Given the description of an element on the screen output the (x, y) to click on. 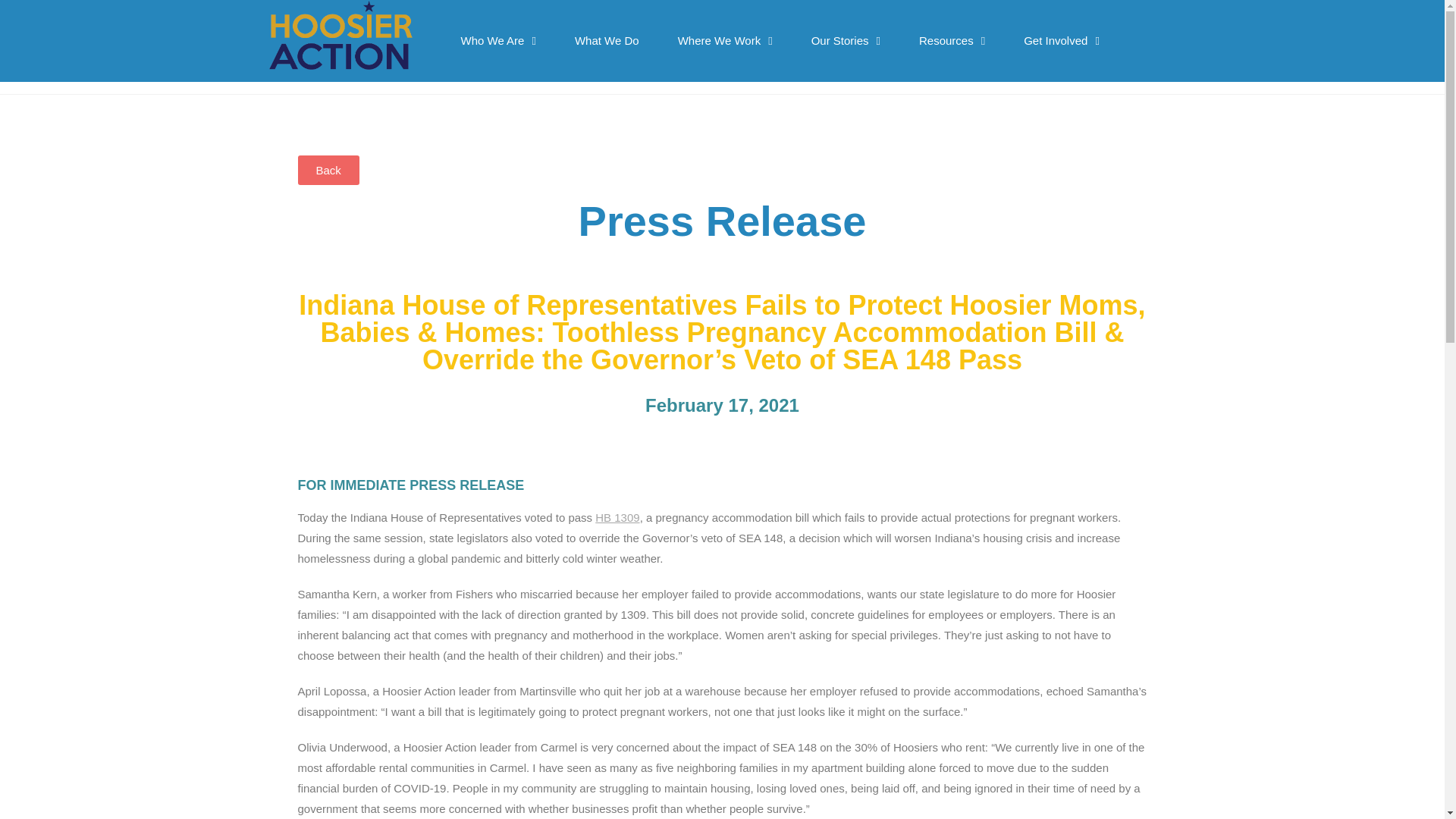
Resources (951, 40)
Get Involved (1061, 40)
Our Stories (845, 40)
What We Do (606, 40)
Where We Work (725, 40)
Who We Are (498, 40)
